Given the description of an element on the screen output the (x, y) to click on. 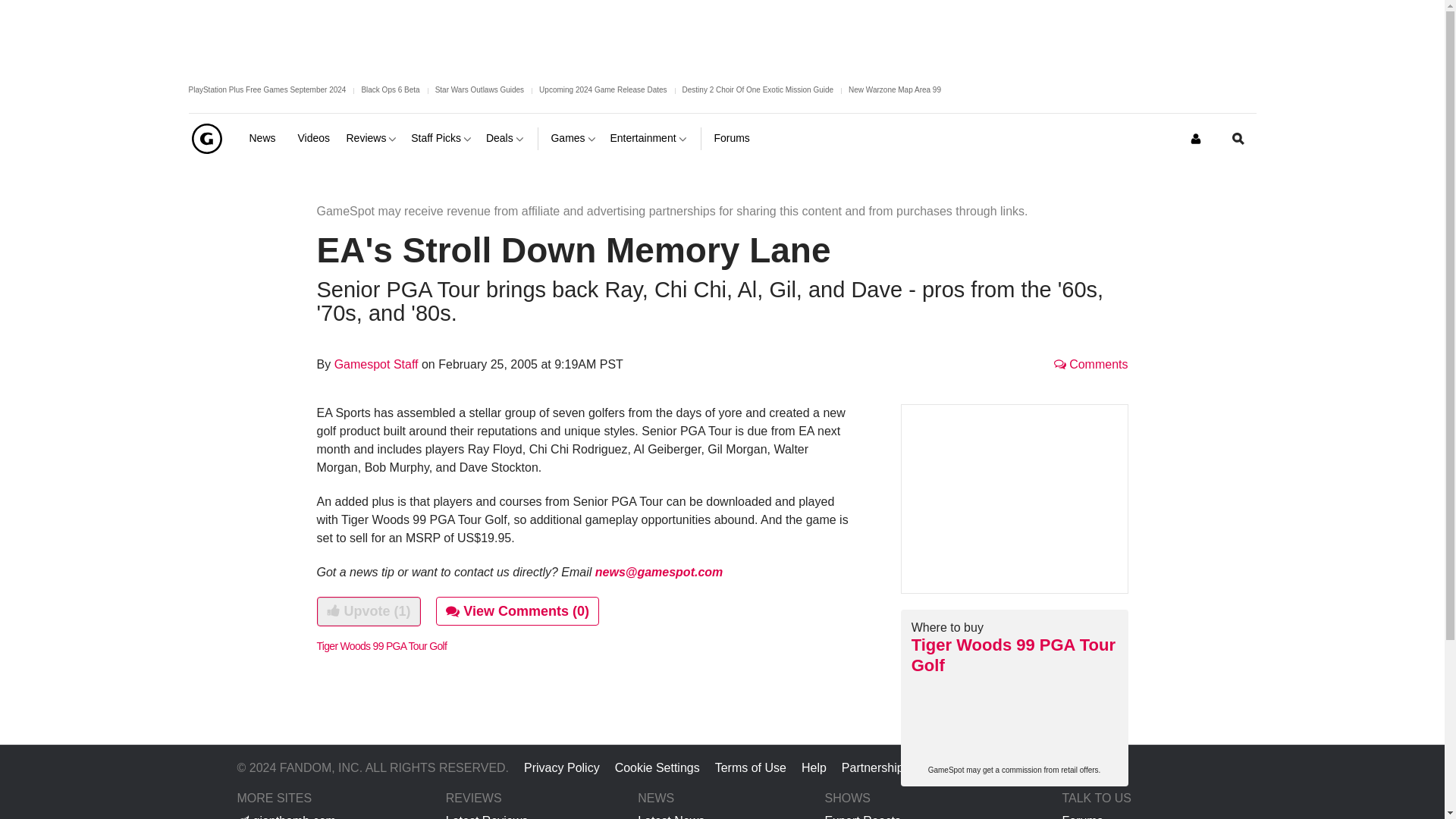
New Warzone Map Area 99 (894, 89)
Black Ops 6 Beta (390, 89)
Star Wars Outlaws Guides (479, 89)
News (266, 138)
Destiny 2 Choir Of One Exotic Mission Guide (758, 89)
GameSpot (205, 138)
Staff Picks (442, 138)
Deals (505, 138)
Upcoming 2024 Game Release Dates (602, 89)
Reviews (372, 138)
